Given the description of an element on the screen output the (x, y) to click on. 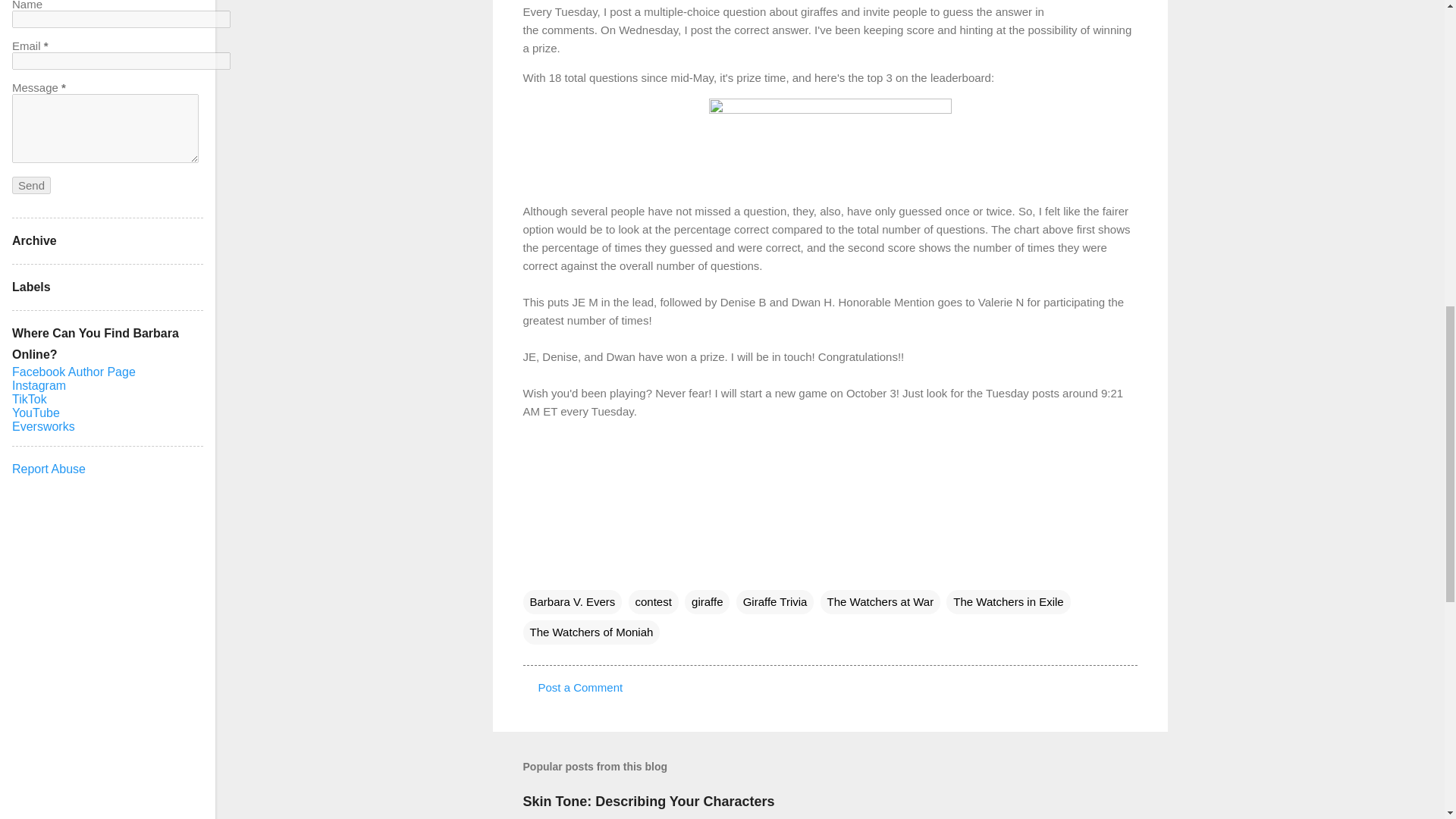
Send (30, 185)
The Watchers in Exile (1008, 601)
contest (653, 601)
Giraffe Trivia (774, 601)
giraffe (706, 601)
The Watchers at War (880, 601)
Email Post (531, 570)
Post a Comment (580, 686)
Barbara V. Evers (572, 601)
